Given the description of an element on the screen output the (x, y) to click on. 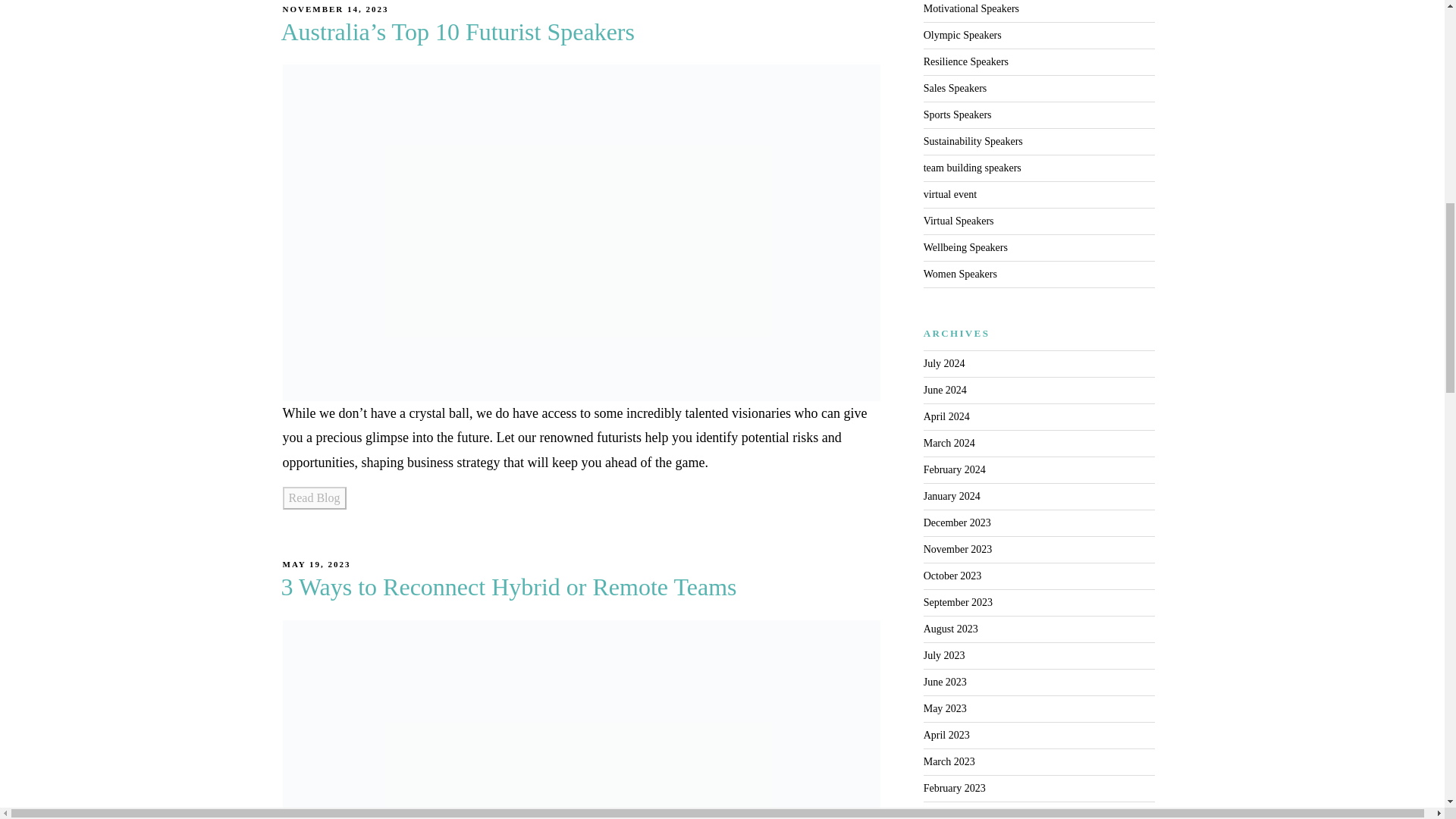
MAY 19, 2023 (316, 563)
NOVEMBER 14, 2023 (335, 8)
Read Blog (314, 497)
3 Ways to Reconnect Hybrid or Remote Teams (508, 586)
Read Blog (314, 497)
